Given the description of an element on the screen output the (x, y) to click on. 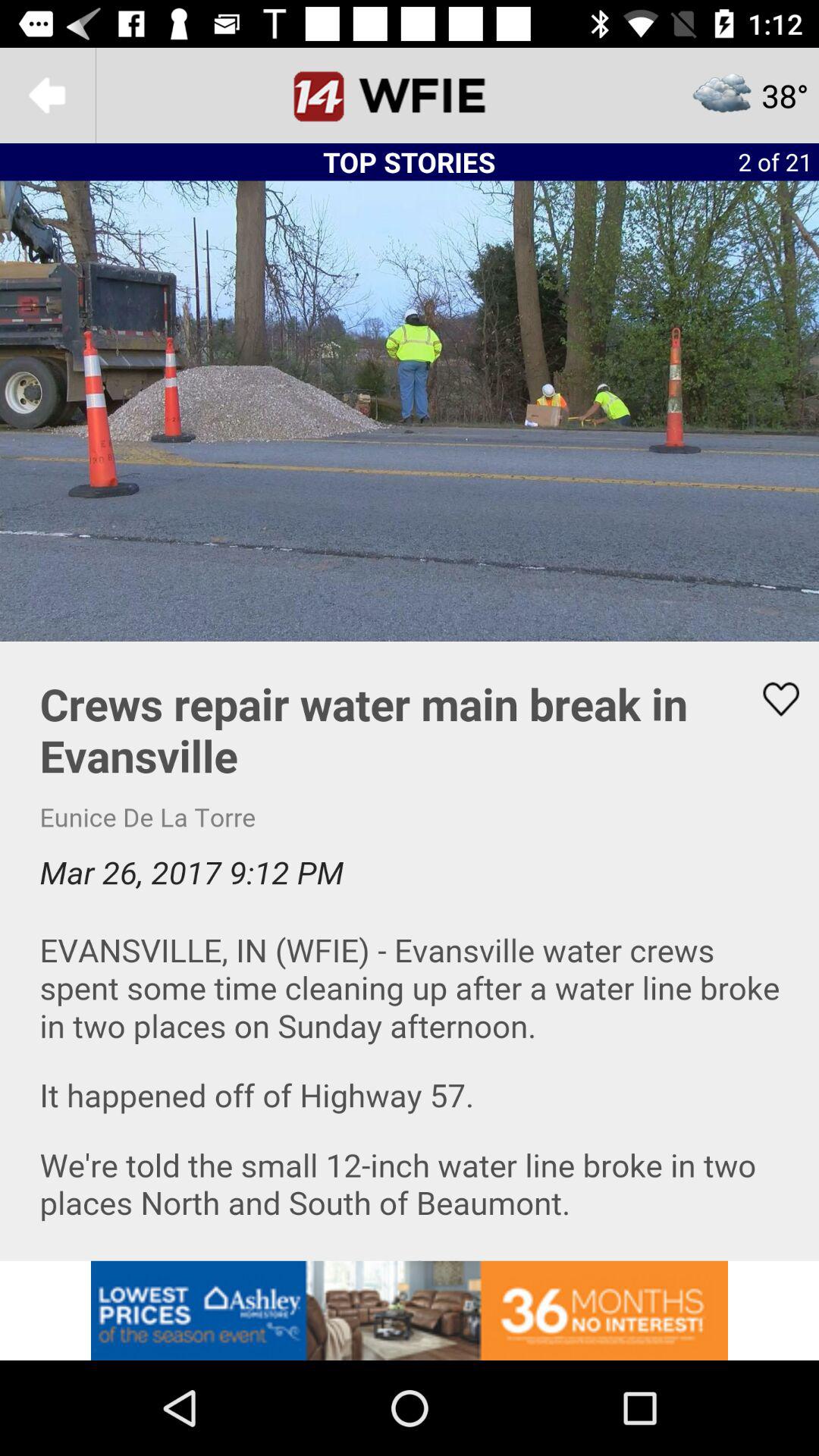
advertisement for low prices (409, 1310)
